Given the description of an element on the screen output the (x, y) to click on. 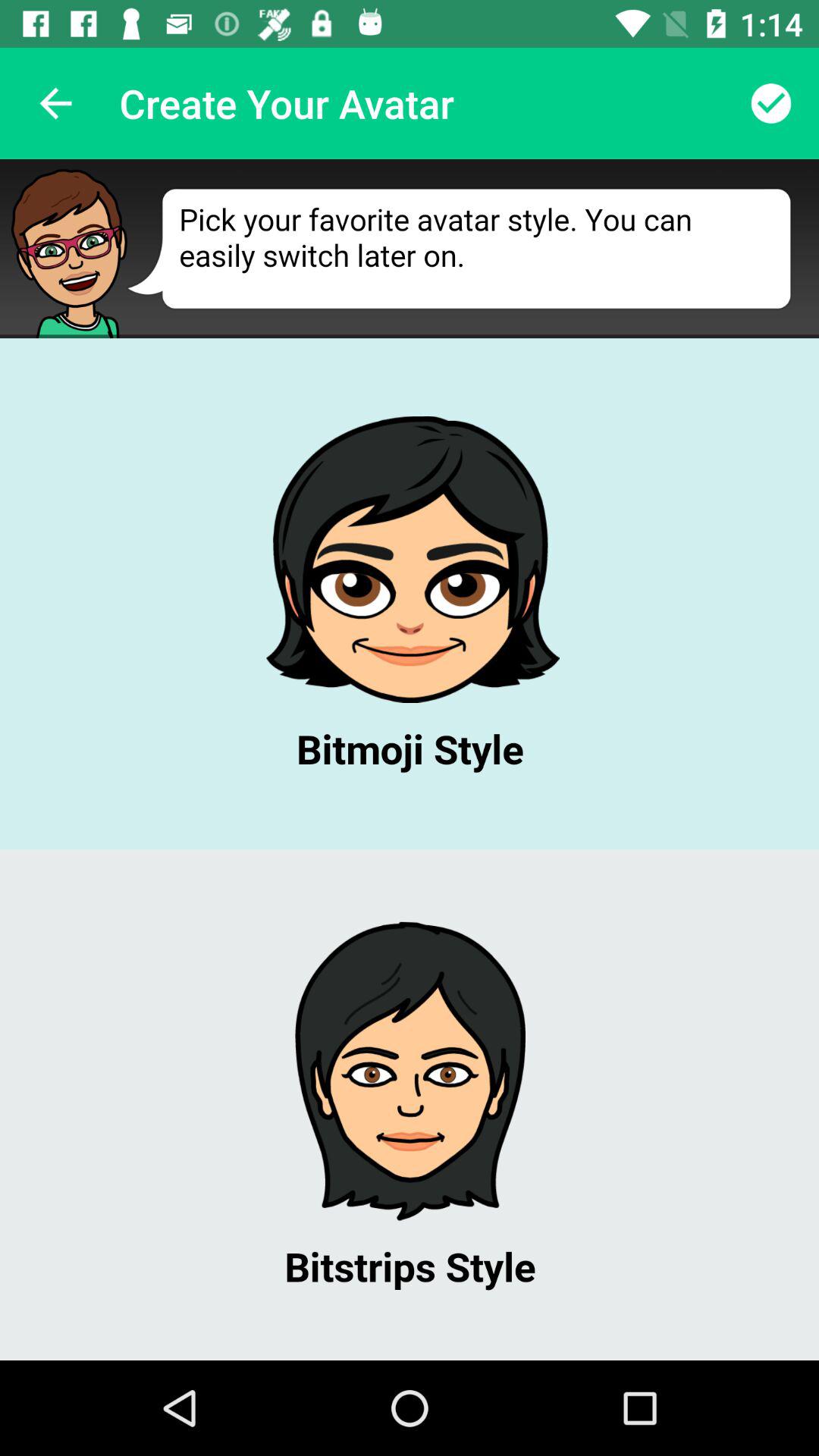
pick avatar (409, 759)
